Given the description of an element on the screen output the (x, y) to click on. 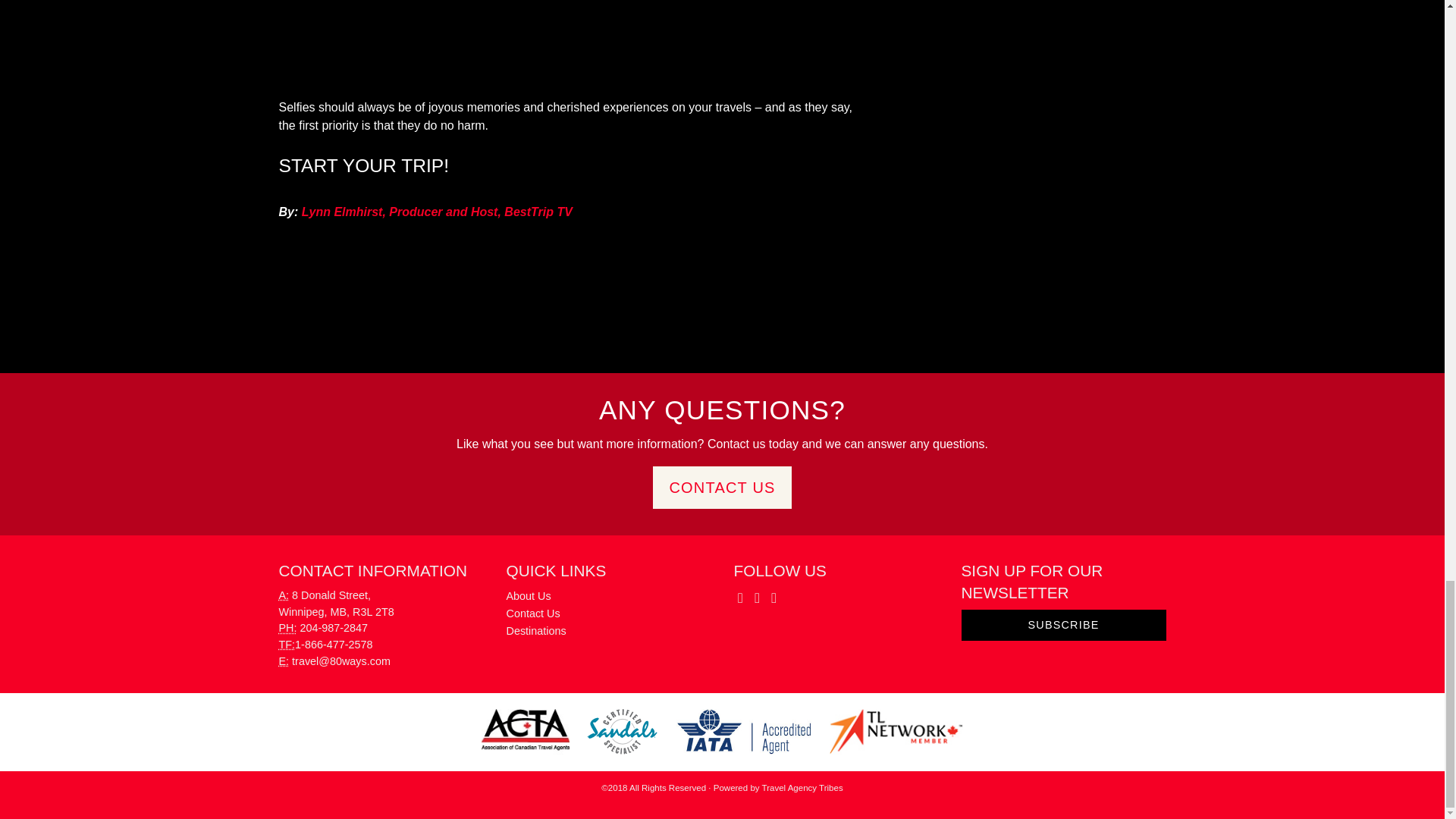
TLN (895, 731)
Lynn Elmhirst, Producer and Host, BestTrip TV (436, 211)
IATA (744, 731)
Toll Free (287, 644)
Email (284, 661)
ACTA (525, 731)
SANDALS (622, 731)
Phone (288, 627)
Address (284, 594)
